Given the description of an element on the screen output the (x, y) to click on. 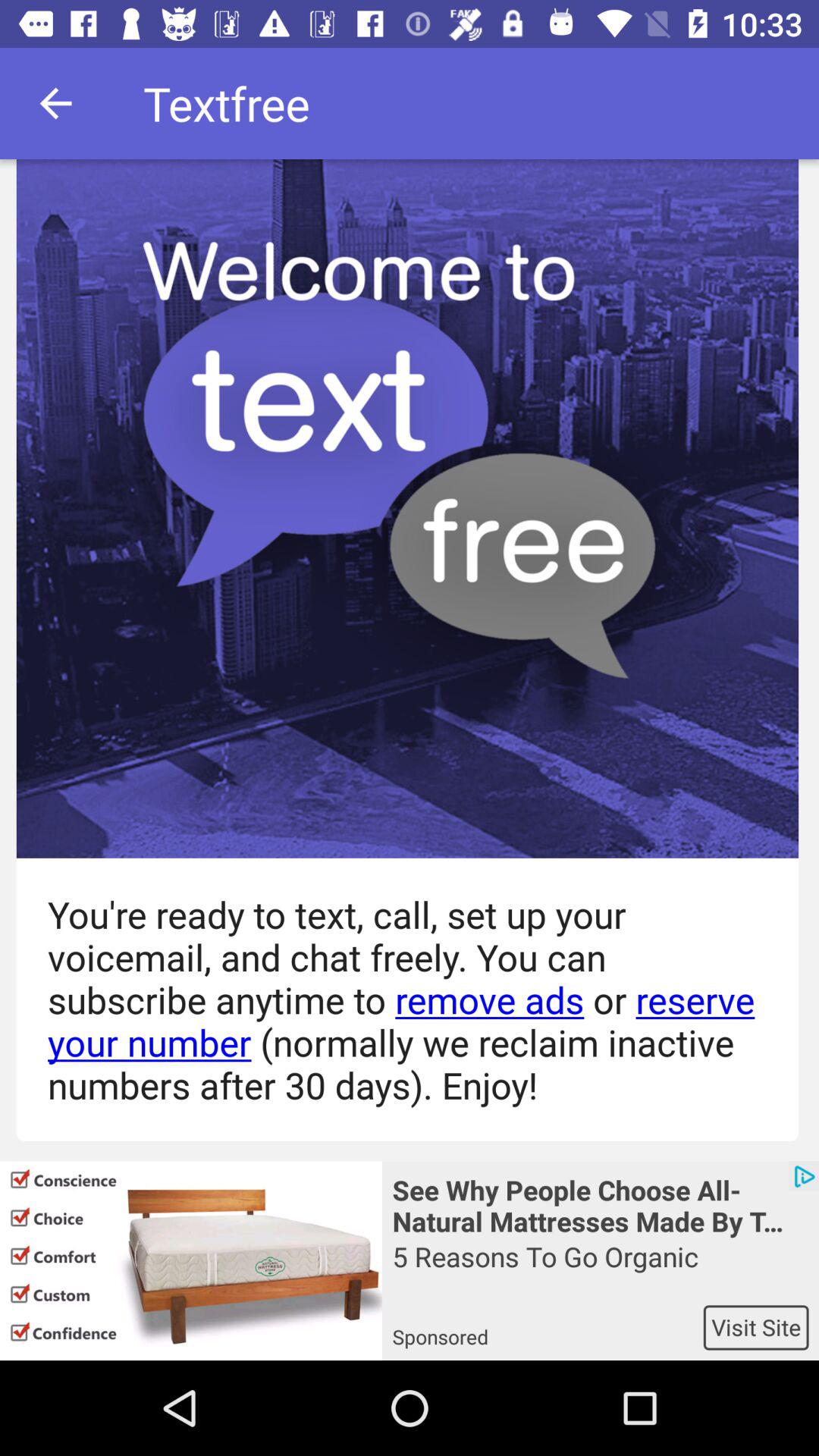
tap the you re ready icon (399, 999)
